Given the description of an element on the screen output the (x, y) to click on. 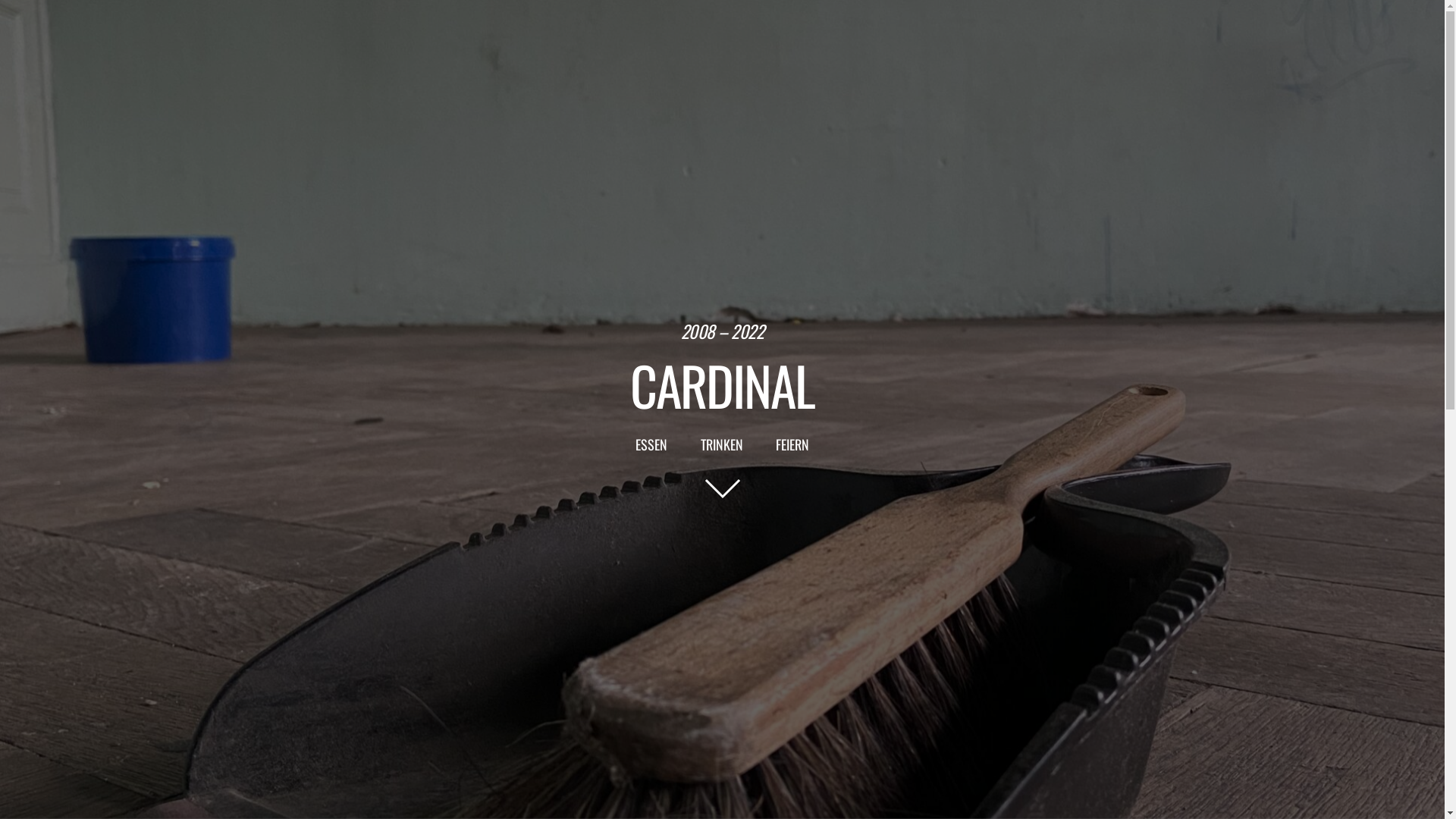
FEIERN Element type: text (791, 444)
TRINKEN Element type: text (721, 444)
ESSEN Element type: text (651, 444)
CARDINAL Element type: text (721, 384)
